Given the description of an element on the screen output the (x, y) to click on. 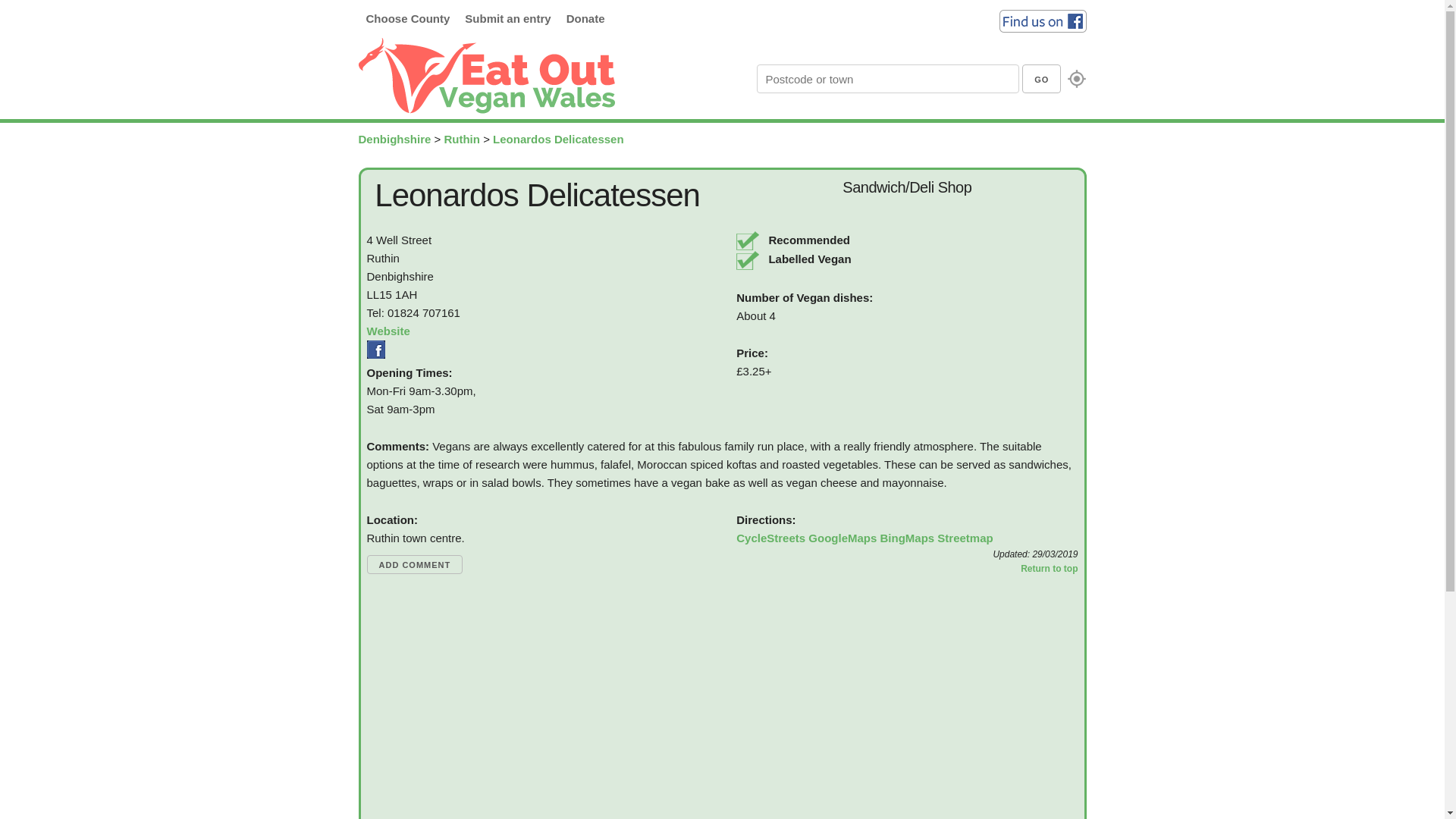
Ruthin (461, 138)
Website (388, 330)
Streetmap (964, 536)
GoogleMaps (842, 536)
Choose County (407, 18)
Denbighshire (394, 138)
Submit an entry (507, 18)
Leonardos Delicatessen (558, 138)
Donate (585, 18)
BingMaps (906, 536)
